Given the description of an element on the screen output the (x, y) to click on. 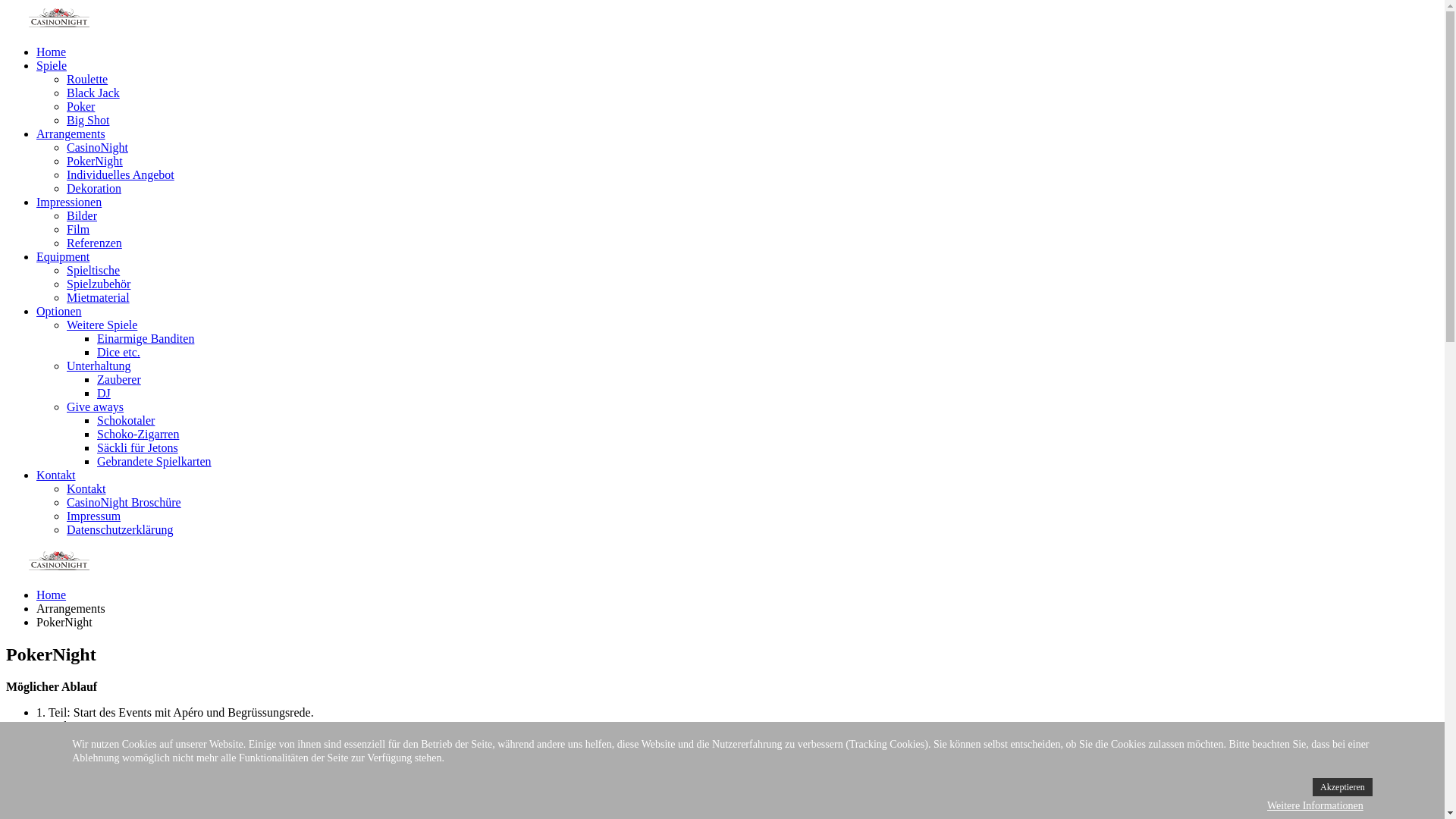
Gebrandete Spielkarten Element type: text (154, 461)
Dice etc. Element type: text (118, 351)
PokerNight Element type: text (94, 160)
Spieltische Element type: text (92, 269)
Kontakt Element type: text (86, 488)
Film Element type: text (77, 228)
Weitere Spiele Element type: text (101, 324)
Home Element type: text (50, 51)
Kontakt Element type: text (55, 474)
Mietmaterial Element type: text (97, 297)
Equipment Element type: text (62, 256)
Zauberer Element type: text (119, 379)
Einarmige Banditen Element type: text (145, 338)
Schoko-Zigarren Element type: text (137, 433)
Dekoration Element type: text (93, 188)
CasinoNight Element type: text (97, 147)
Bilder Element type: text (81, 215)
Schokotaler Element type: text (125, 420)
Akzeptieren Element type: text (1342, 787)
Arrangements Element type: text (70, 133)
Roulette Element type: text (86, 78)
Poker Element type: text (80, 106)
Individuelles Angebot Element type: text (120, 174)
Referenzen Element type: text (94, 242)
Give aways Element type: text (94, 406)
Spiele Element type: text (51, 65)
Unterhaltung Element type: text (98, 365)
Optionen Element type: text (58, 310)
Weitere Informationen Element type: text (1315, 806)
Home Element type: text (50, 594)
Black Jack Element type: text (92, 92)
Impressionen Element type: text (68, 201)
Big Shot Element type: text (87, 119)
Impressum Element type: text (93, 515)
DJ Element type: text (103, 392)
